Given the description of an element on the screen output the (x, y) to click on. 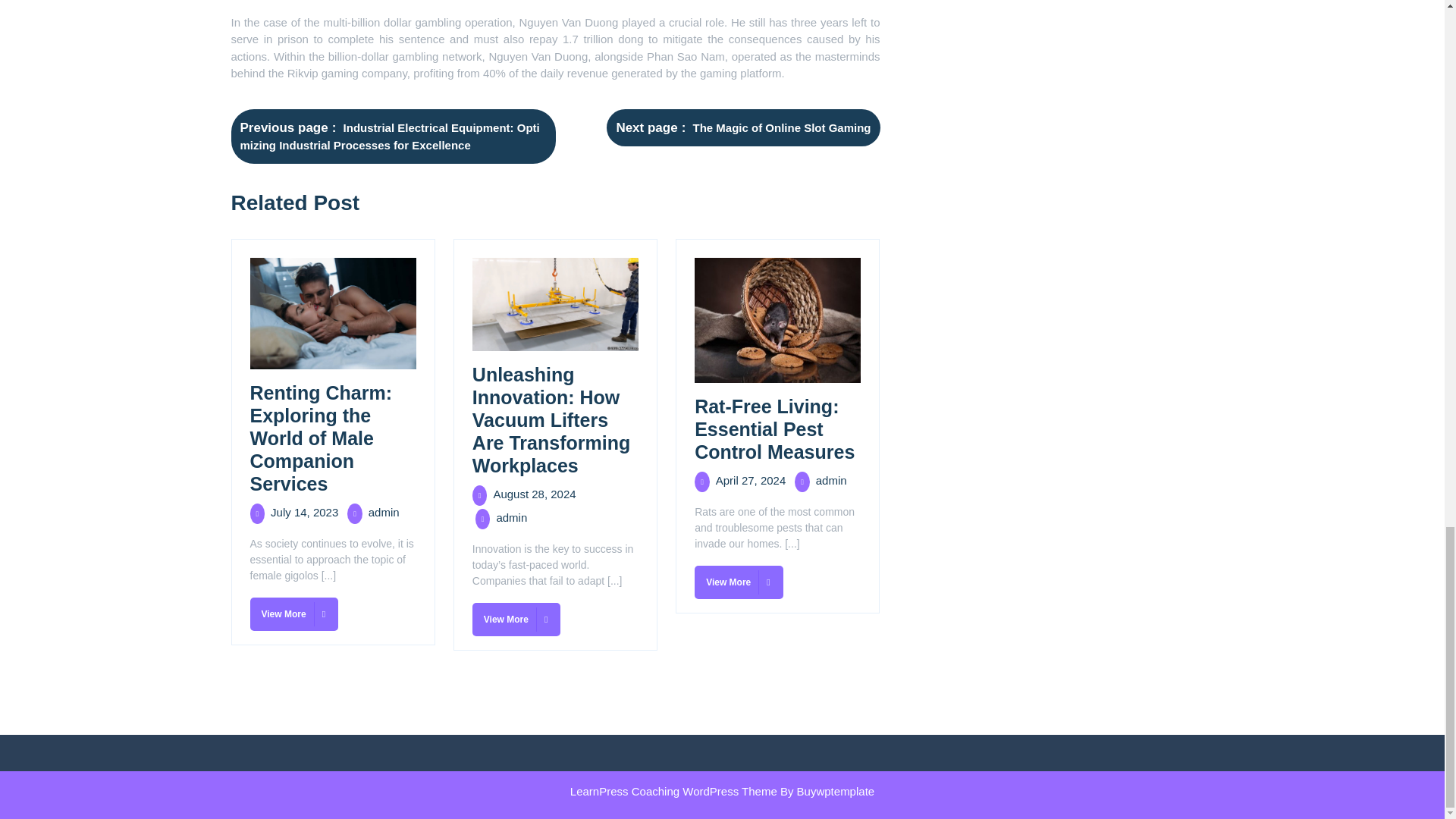
View More (738, 581)
admin (383, 512)
View More (515, 619)
View More (294, 613)
admin (511, 517)
April 27, 2024 (751, 480)
Rat-Free Living: Essential Pest Control Measures (774, 428)
